Given the description of an element on the screen output the (x, y) to click on. 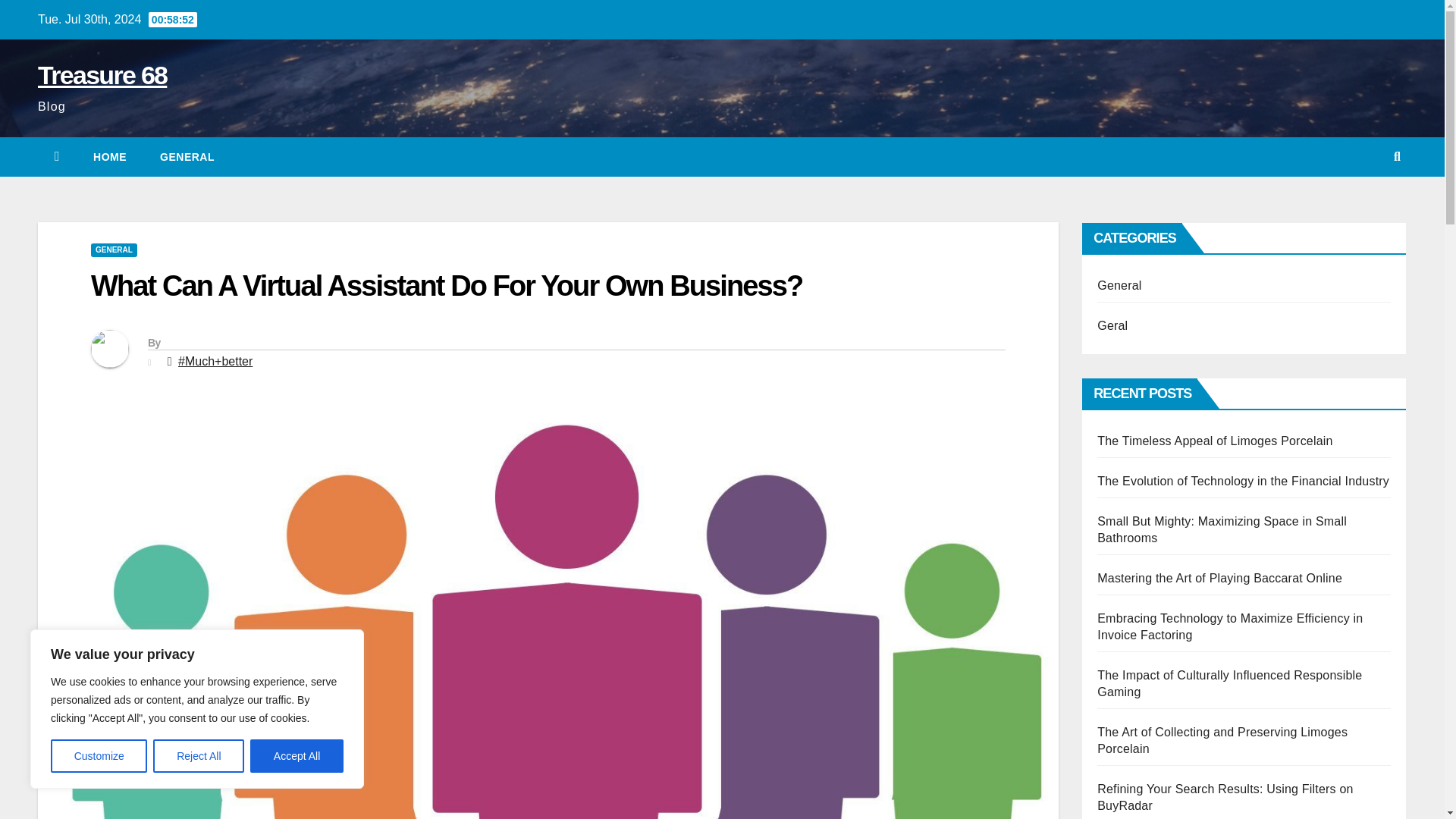
Reject All (198, 756)
GENERAL (186, 156)
Customize (98, 756)
What Can A Virtual Assistant Do For Your Own Business? (446, 286)
Accept All (296, 756)
Home (109, 156)
HOME (109, 156)
General (186, 156)
Treasure 68 (102, 74)
